Given the description of an element on the screen output the (x, y) to click on. 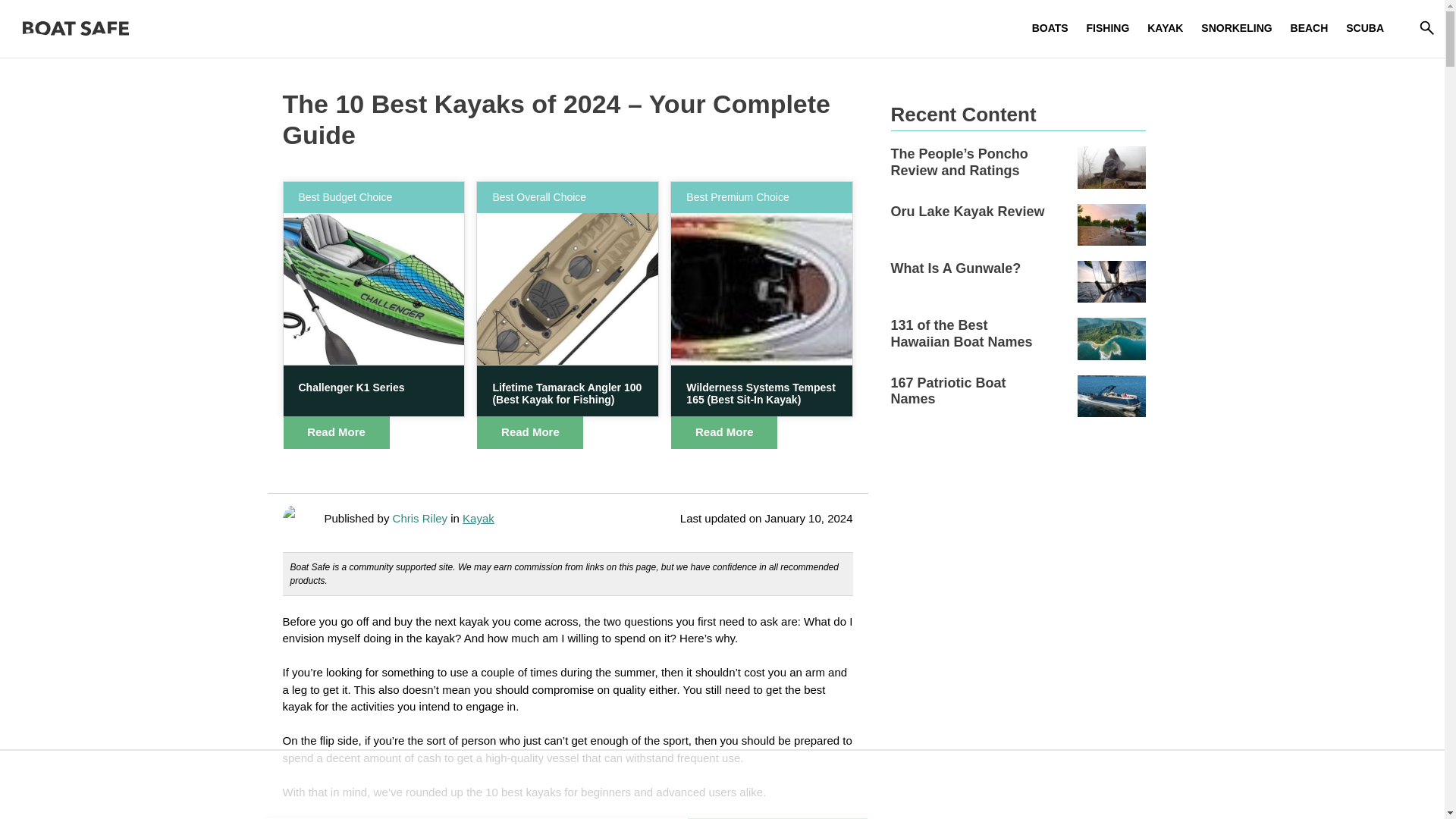
BOATS (1050, 27)
Read More (530, 432)
Boat Safe (76, 28)
Read More (336, 432)
Kayak (479, 517)
Read More (724, 432)
SNORKELING (1236, 27)
Chris Riley (422, 517)
SCUBA (1364, 27)
KAYAK (1165, 27)
FISHING (1107, 27)
BEACH (1309, 27)
